Given the description of an element on the screen output the (x, y) to click on. 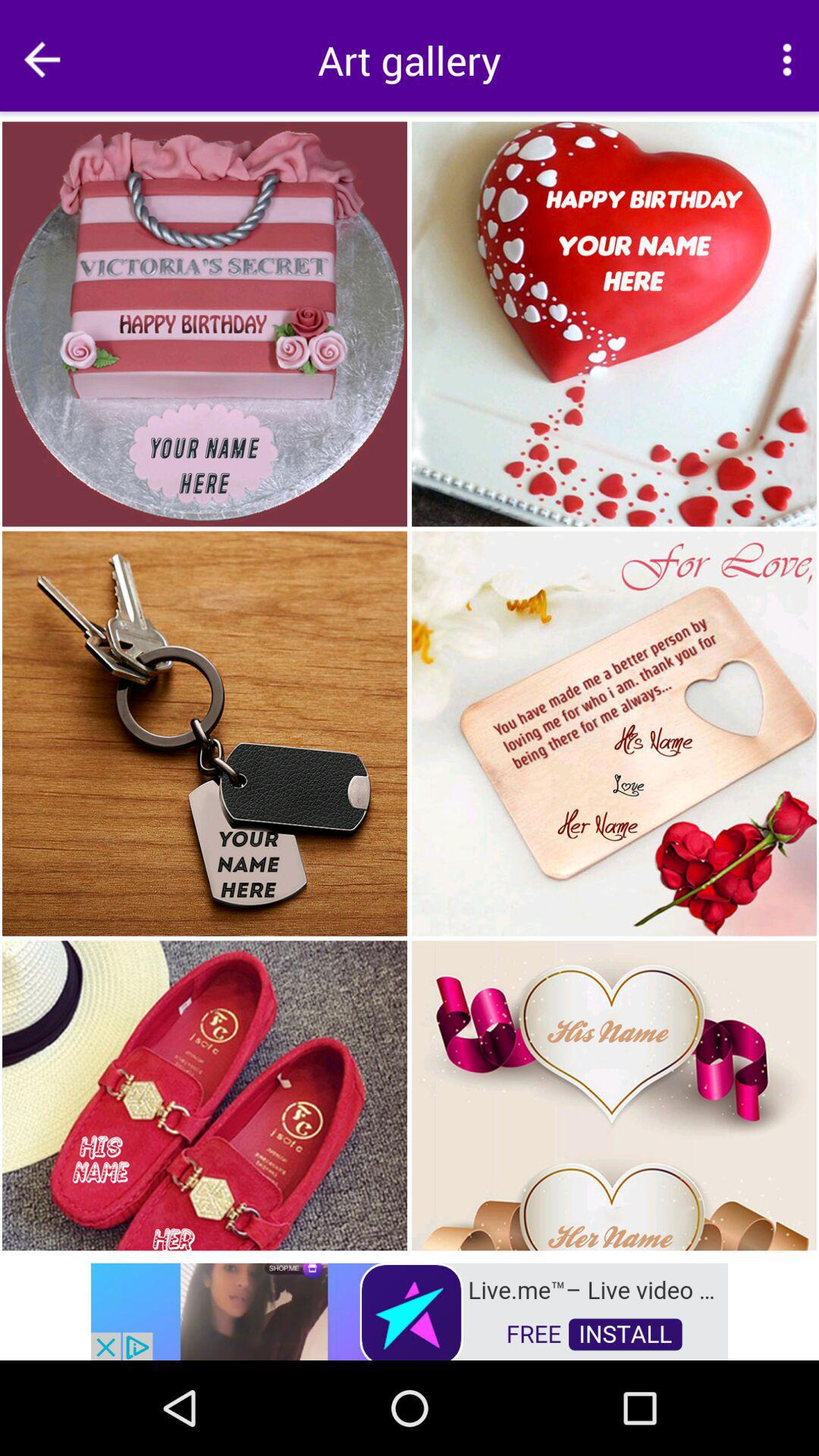
live live video (409, 1310)
